Given the description of an element on the screen output the (x, y) to click on. 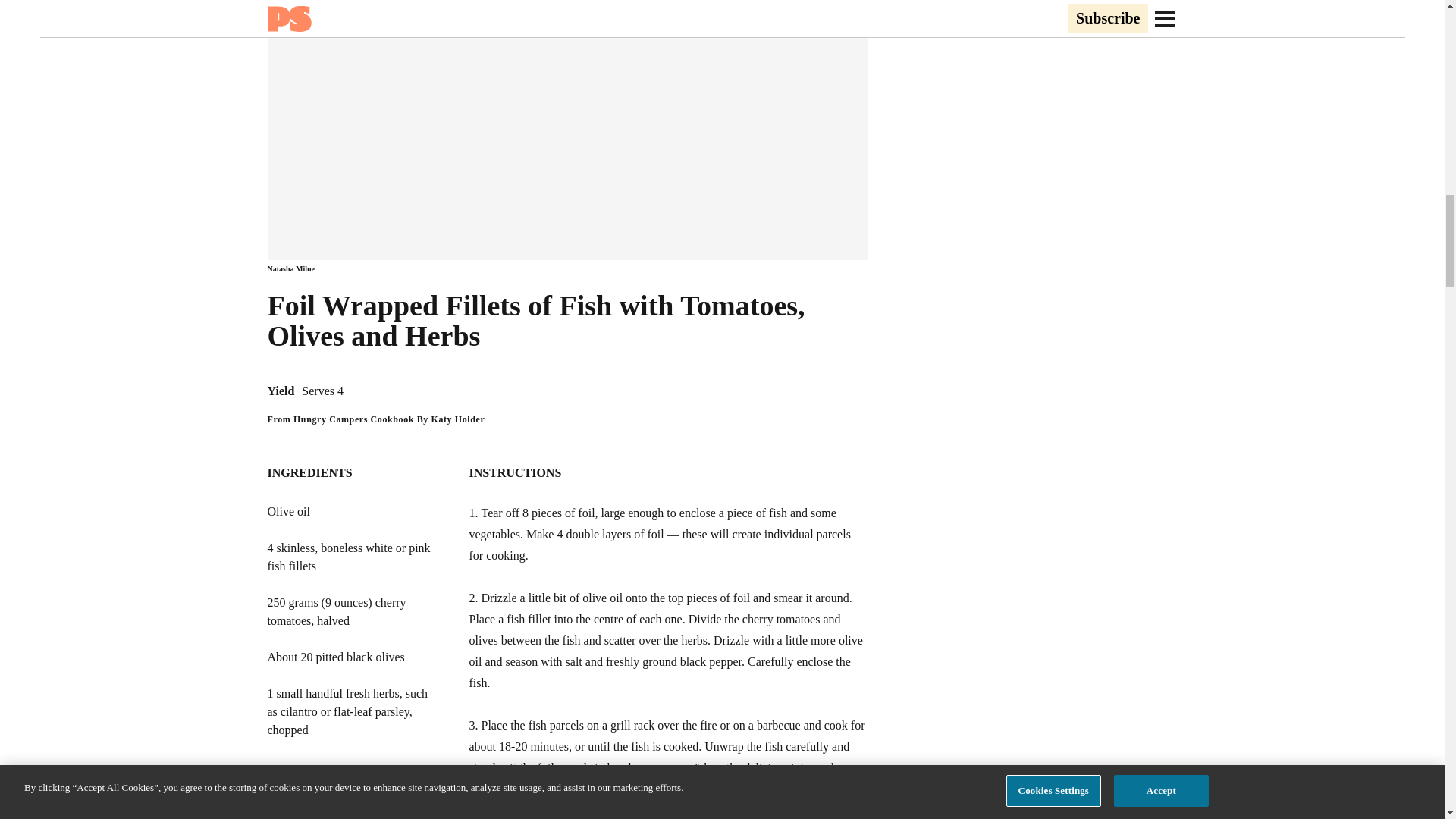
From Hungry Campers Cookbook By Katy Holder (375, 419)
